Given the description of an element on the screen output the (x, y) to click on. 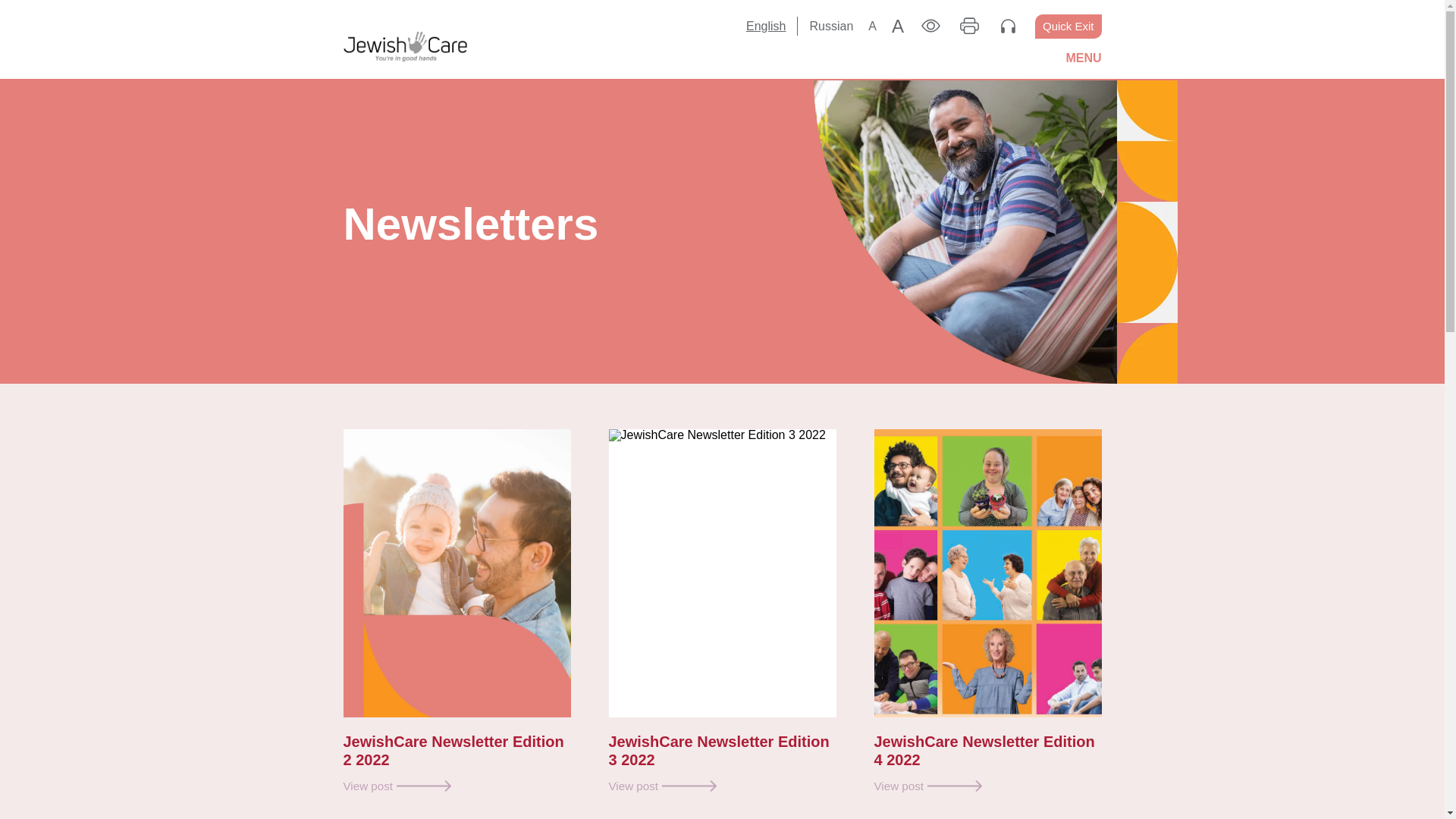
JewishCare Newsletter Edition 3 2022
View post Element type: text (721, 610)
JewishCare Newsletter Edition 2 2022
View post Element type: text (456, 610)
JewishCare Newsletter Edition 4 2022
View post Element type: text (987, 610)
Quick Exit Element type: text (1068, 25)
